Given the description of an element on the screen output the (x, y) to click on. 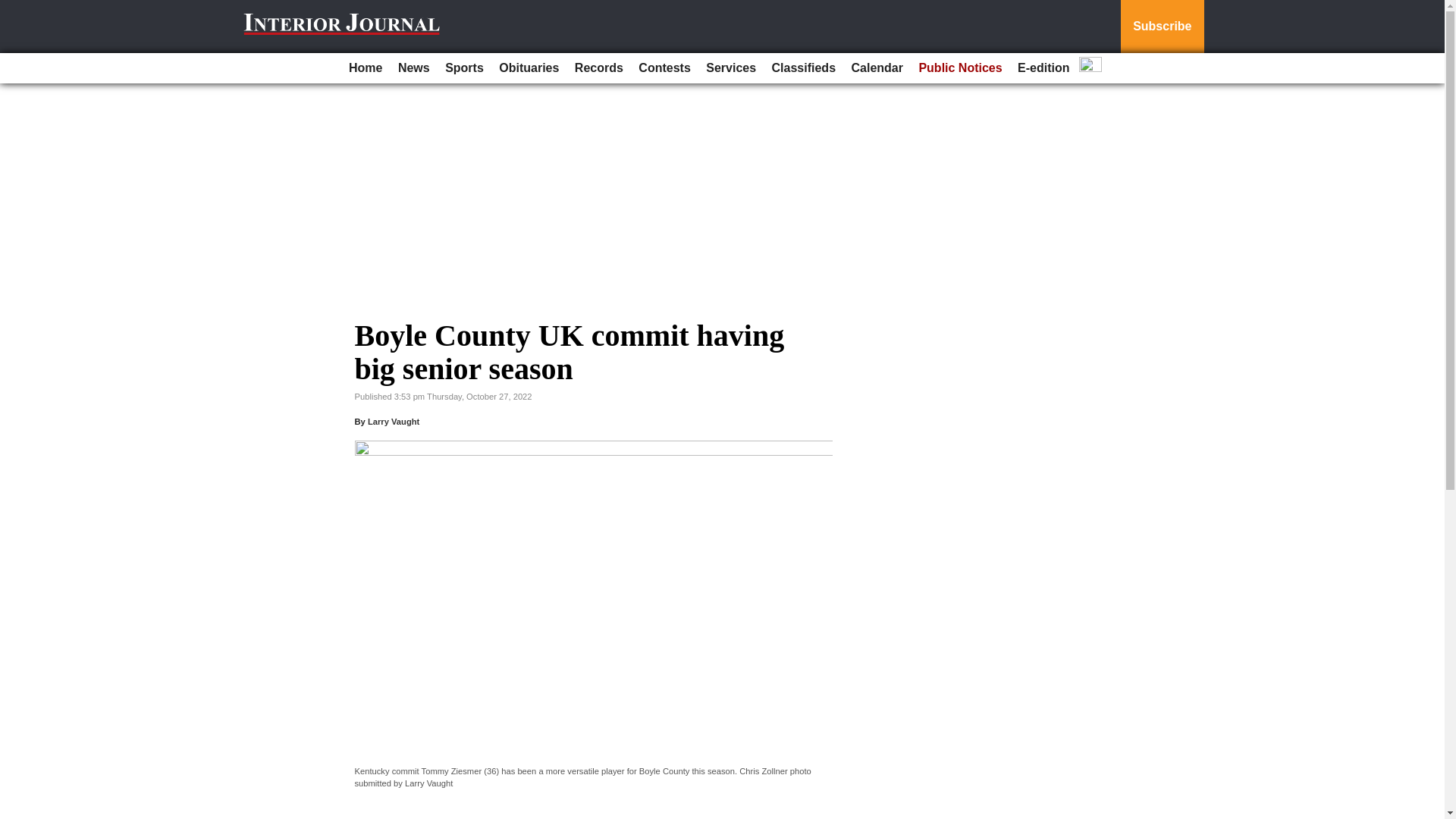
Calendar (876, 68)
Home (365, 68)
Larry Vaught (393, 420)
Records (598, 68)
Sports (464, 68)
Subscribe (1162, 26)
Obituaries (528, 68)
E-edition (1043, 68)
Services (730, 68)
Contests (663, 68)
Public Notices (959, 68)
Go (13, 9)
News (413, 68)
Classifieds (803, 68)
